Given the description of an element on the screen output the (x, y) to click on. 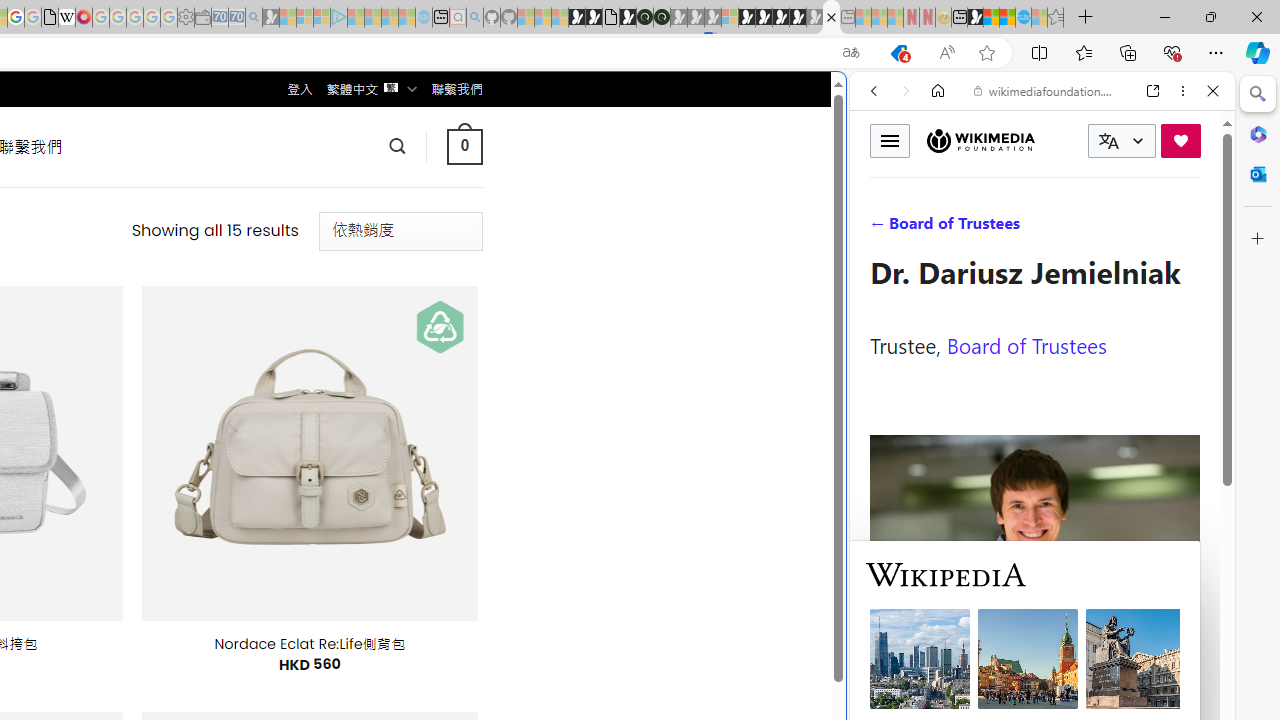
Web scope (882, 180)
Wikimedia Foundation (980, 140)
google_privacy_policy_zh-CN.pdf (49, 17)
Cheap Car Rentals - Save70.com - Sleeping (236, 17)
Search the web (1051, 137)
Microsoft Start Gaming - Sleeping (270, 17)
